Given the description of an element on the screen output the (x, y) to click on. 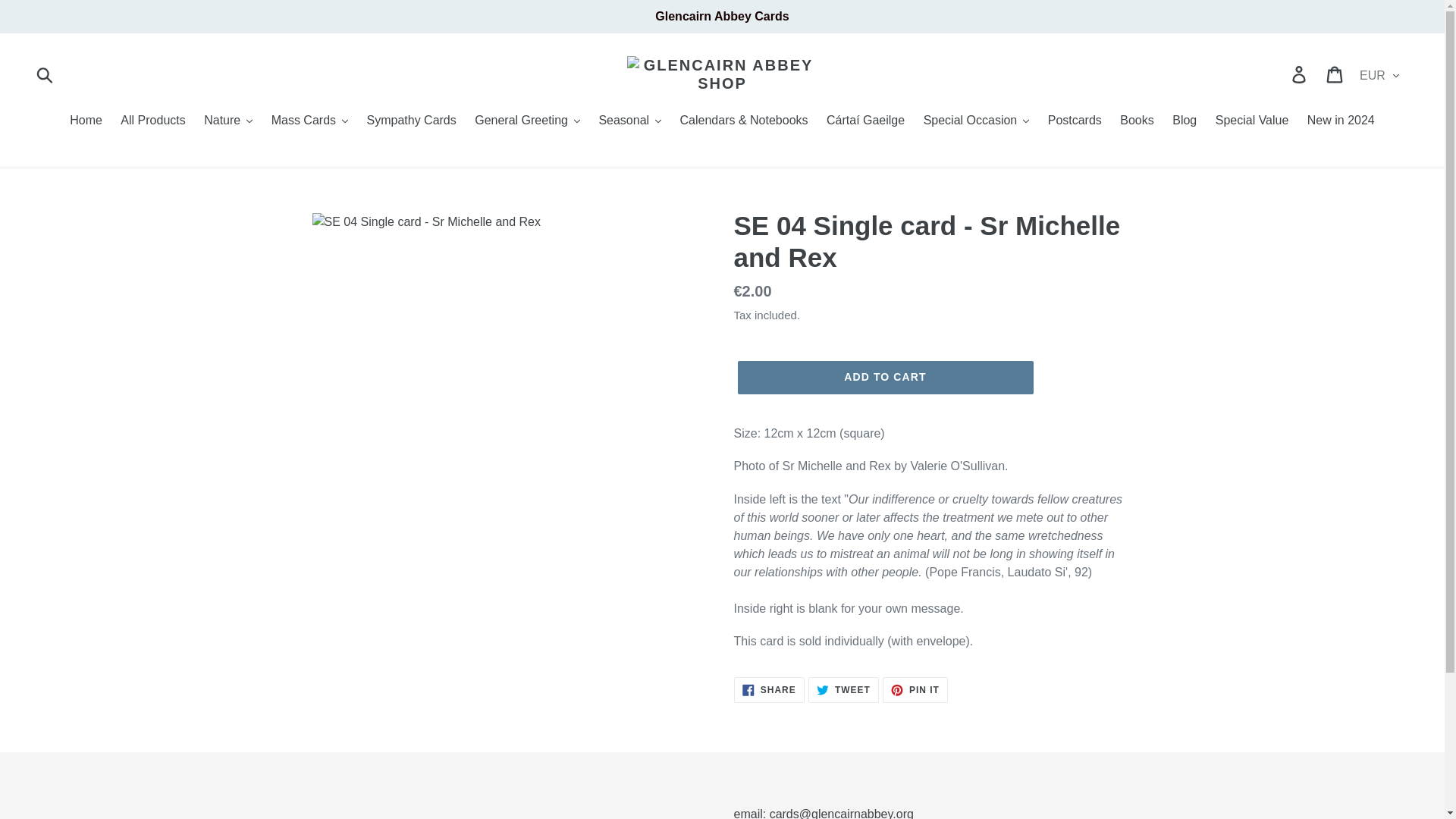
Cart (1335, 73)
Log in (1299, 73)
Submit (45, 73)
